Given the description of an element on the screen output the (x, y) to click on. 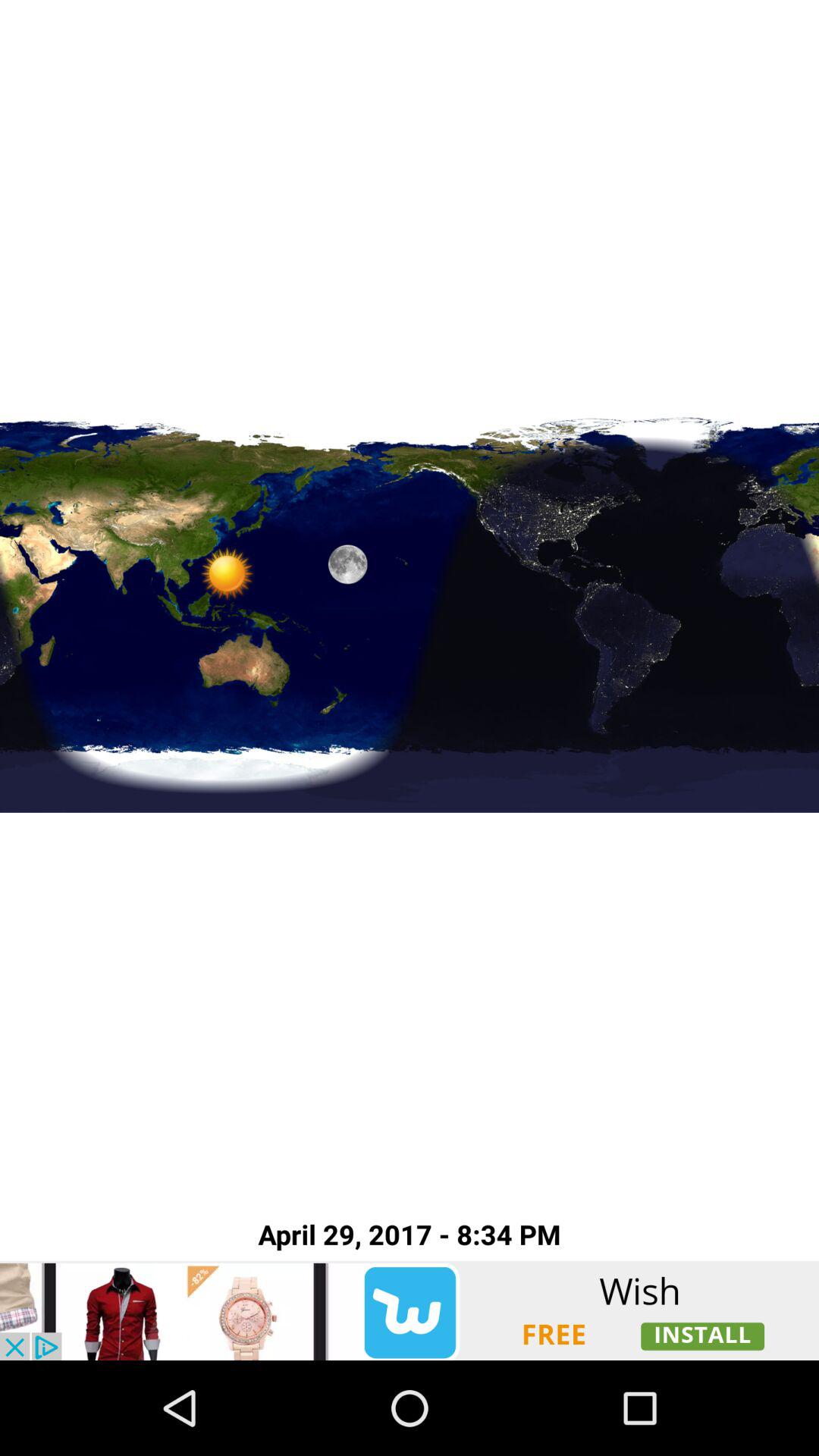
install wish app (409, 1310)
